Given the description of an element on the screen output the (x, y) to click on. 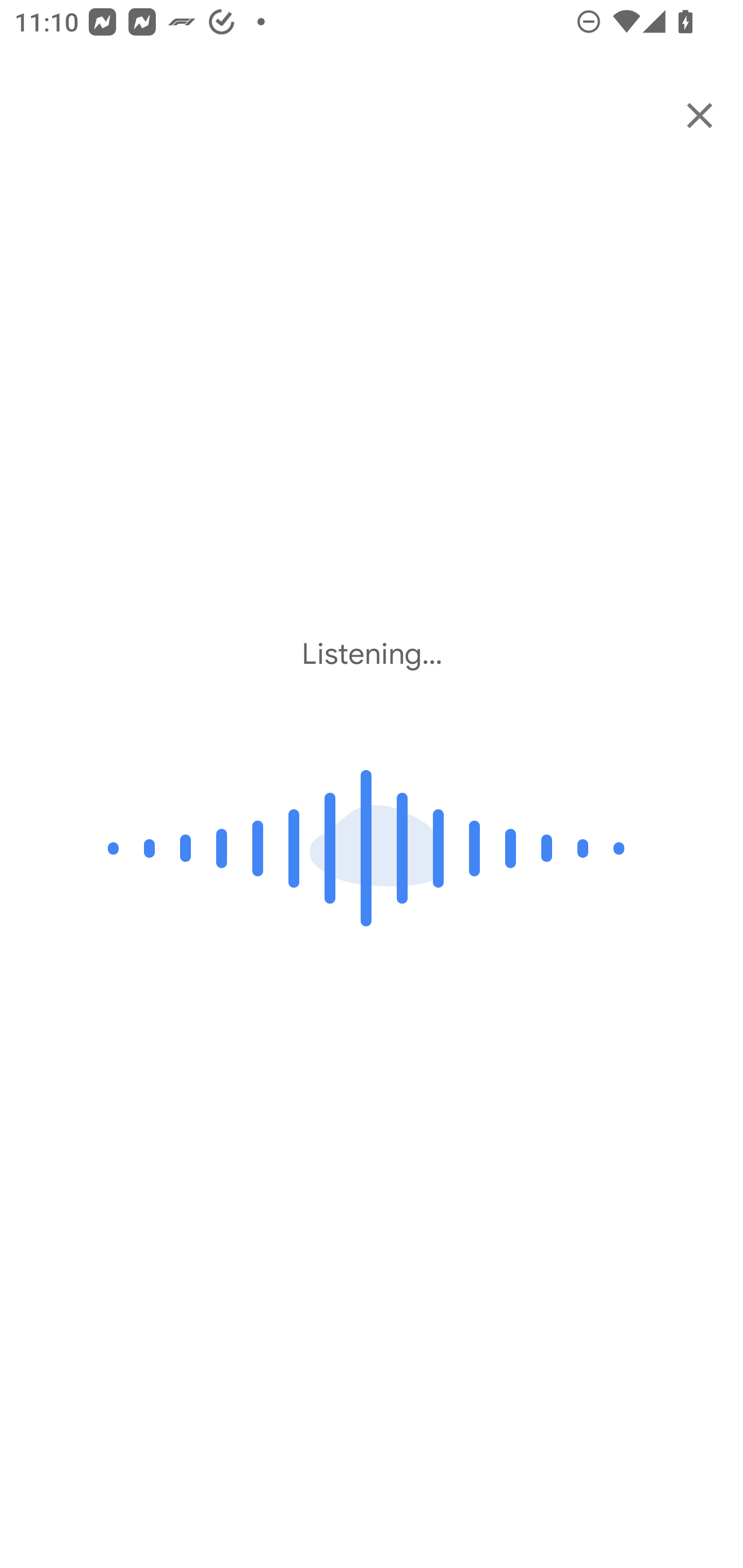
Close (699, 115)
